Given the description of an element on the screen output the (x, y) to click on. 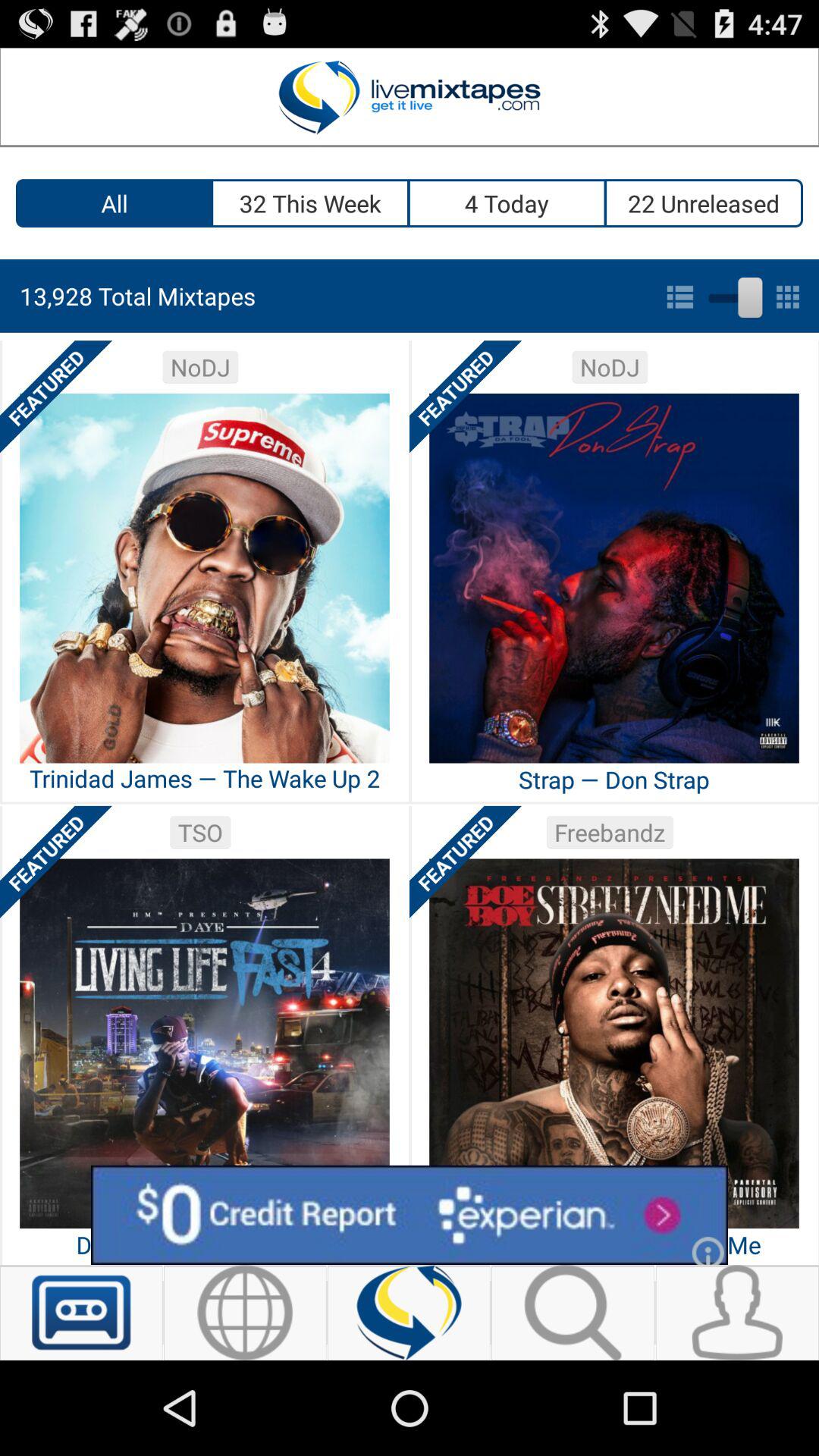
experian advertisement banner (409, 1214)
